Given the description of an element on the screen output the (x, y) to click on. 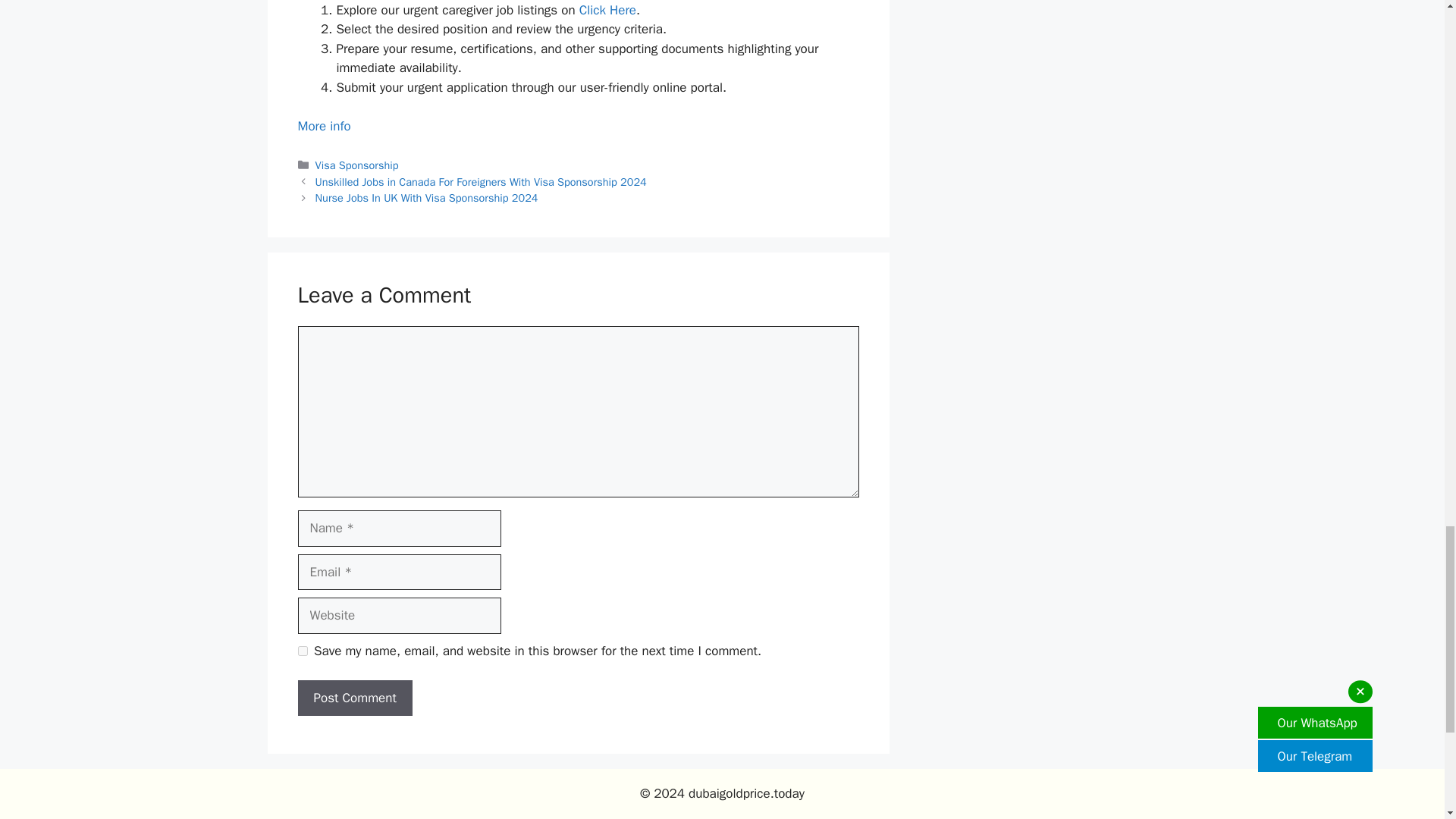
Post Comment (354, 698)
yes (302, 651)
Click Here (607, 10)
Nurse Jobs In UK With Visa Sponsorship 2024 (426, 197)
More info (323, 125)
Post Comment (354, 698)
Visa Sponsorship (356, 164)
